Given the description of an element on the screen output the (x, y) to click on. 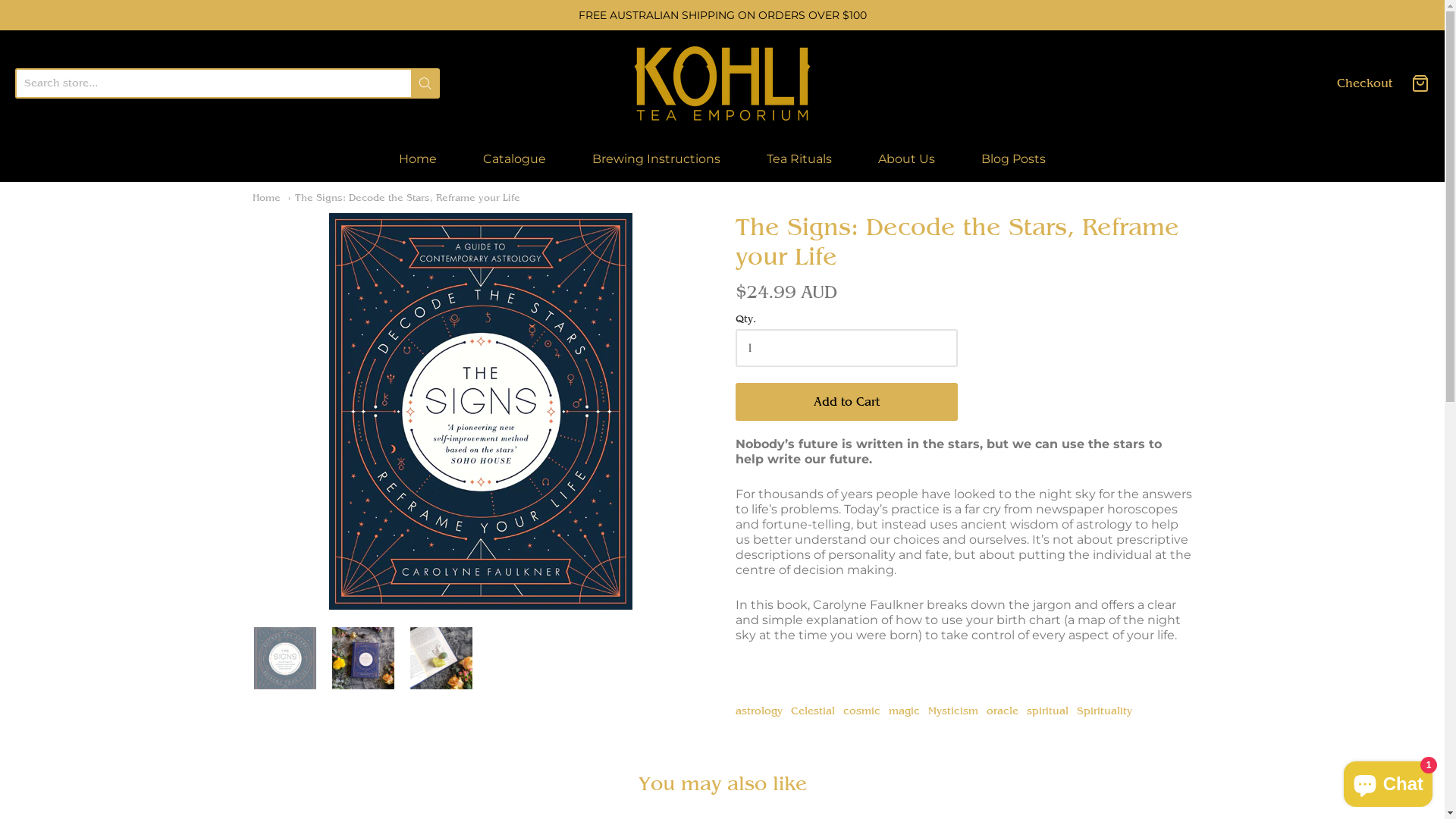
Home Element type: text (417, 158)
The Signs: Decode the Stars, Reframe your Life Element type: hover (362, 657)
Kohli Tea Emporium Element type: hover (722, 82)
The Signs: Decode the Stars, Reframe your Life Element type: hover (283, 657)
Brewing Instructions Element type: text (656, 158)
The Signs: Decode the Stars, Reframe your Life Element type: hover (480, 411)
spiritual Element type: text (1047, 710)
The Signs: Decode the Stars, Reframe your Life Element type: text (404, 197)
Celestial Element type: text (812, 710)
Mysticism Element type: text (953, 710)
About Us Element type: text (906, 158)
Tea Rituals Element type: text (798, 158)
Catalogue Element type: text (514, 158)
Checkout Element type: text (1364, 83)
Home Element type: text (265, 197)
astrology Element type: text (758, 710)
Spirituality Element type: text (1104, 710)
cosmic Element type: text (861, 710)
Shopify online store chat Element type: hover (1388, 780)
oracle Element type: text (1002, 710)
magic Element type: text (903, 710)
Blog Posts Element type: text (1013, 158)
Add to Cart Element type: text (846, 401)
The Signs: Decode the Stars, Reframe your Life Element type: hover (440, 657)
